Given the description of an element on the screen output the (x, y) to click on. 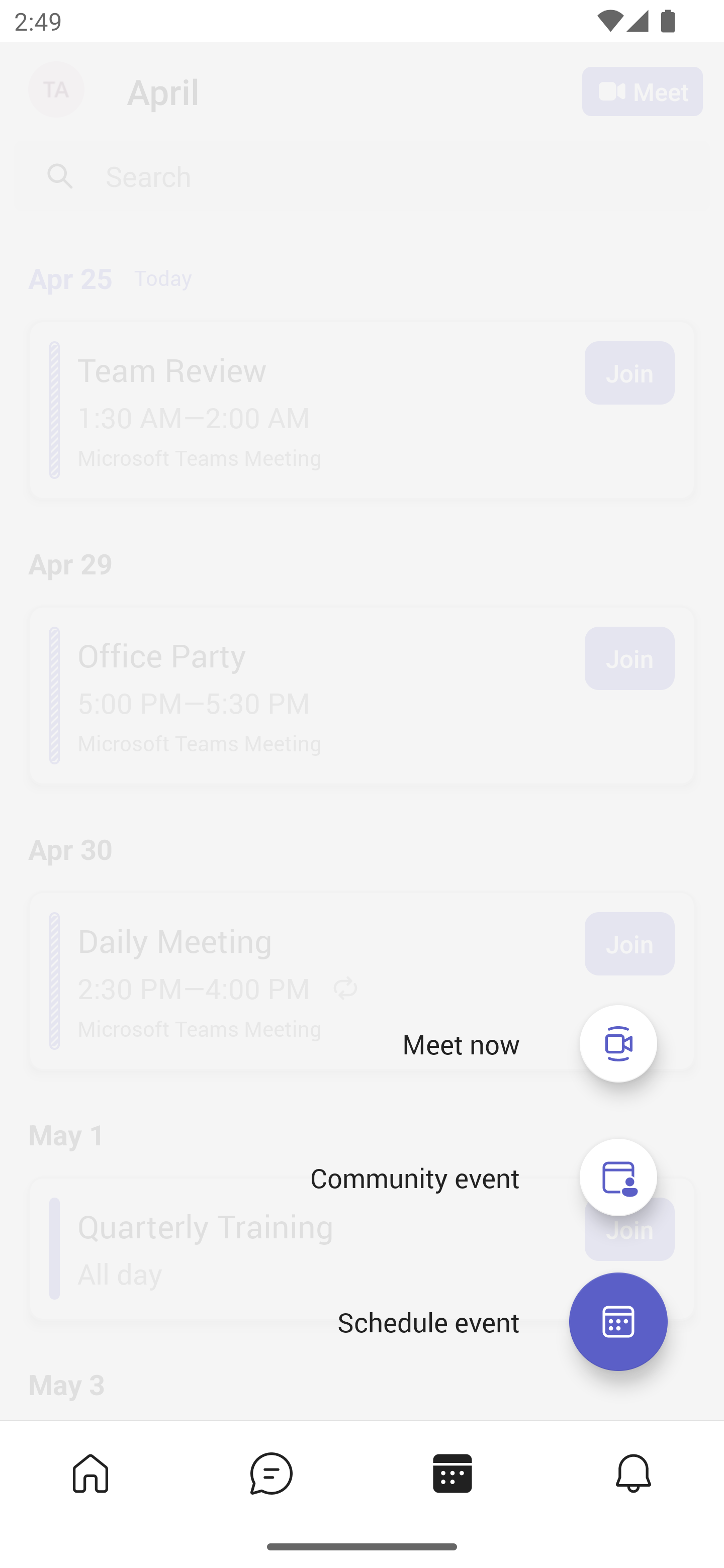
Meet now (618, 1043)
Meet now (461, 1044)
Community event (618, 1177)
Community event (414, 1177)
Schedule event (618, 1321)
Schedule event (428, 1321)
Home tab,1 of 4, not selected (90, 1472)
Chat tab,2 of 4, not selected (271, 1472)
Calendar tab, 3 of 4 (452, 1472)
Activity tab,4 of 4, not selected (633, 1472)
